Given the description of an element on the screen output the (x, y) to click on. 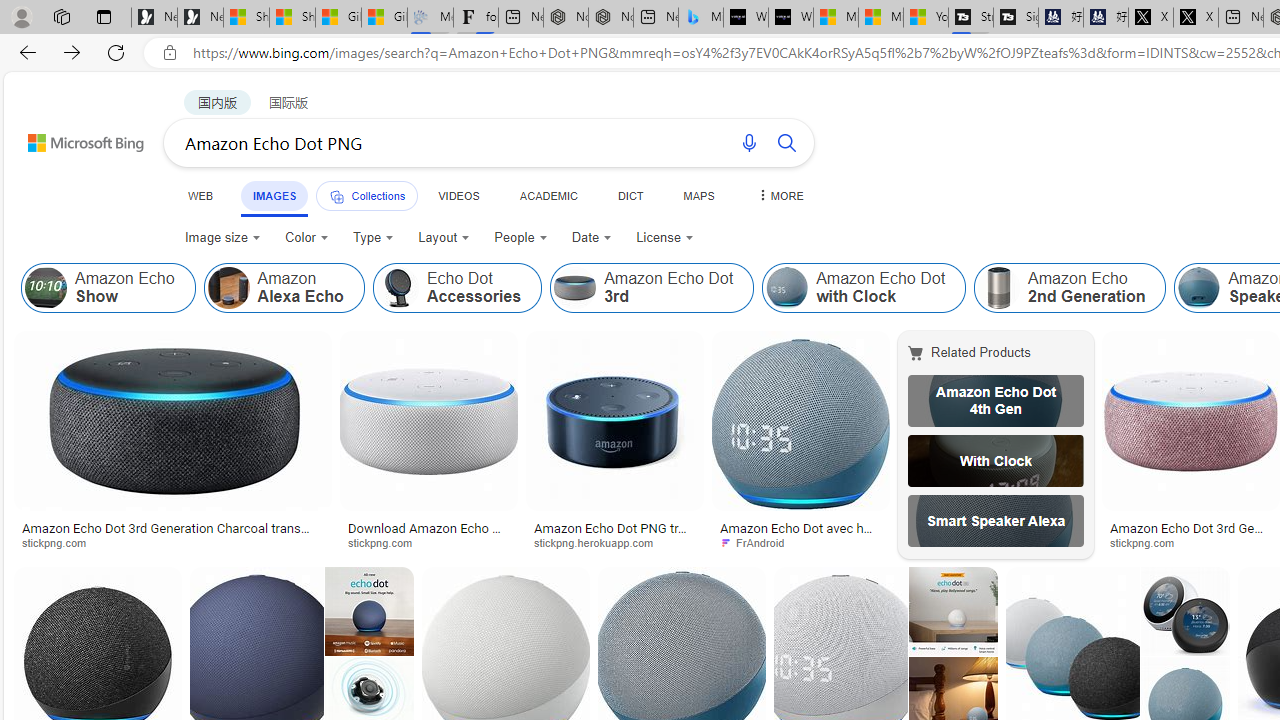
Echo Dot with Clock (995, 460)
stickpng.herokuapp.com (600, 541)
Image size (221, 237)
Search using voice (748, 142)
Amazon Echo Dot 3rd (651, 287)
License (664, 237)
People (521, 237)
